Given the description of an element on the screen output the (x, y) to click on. 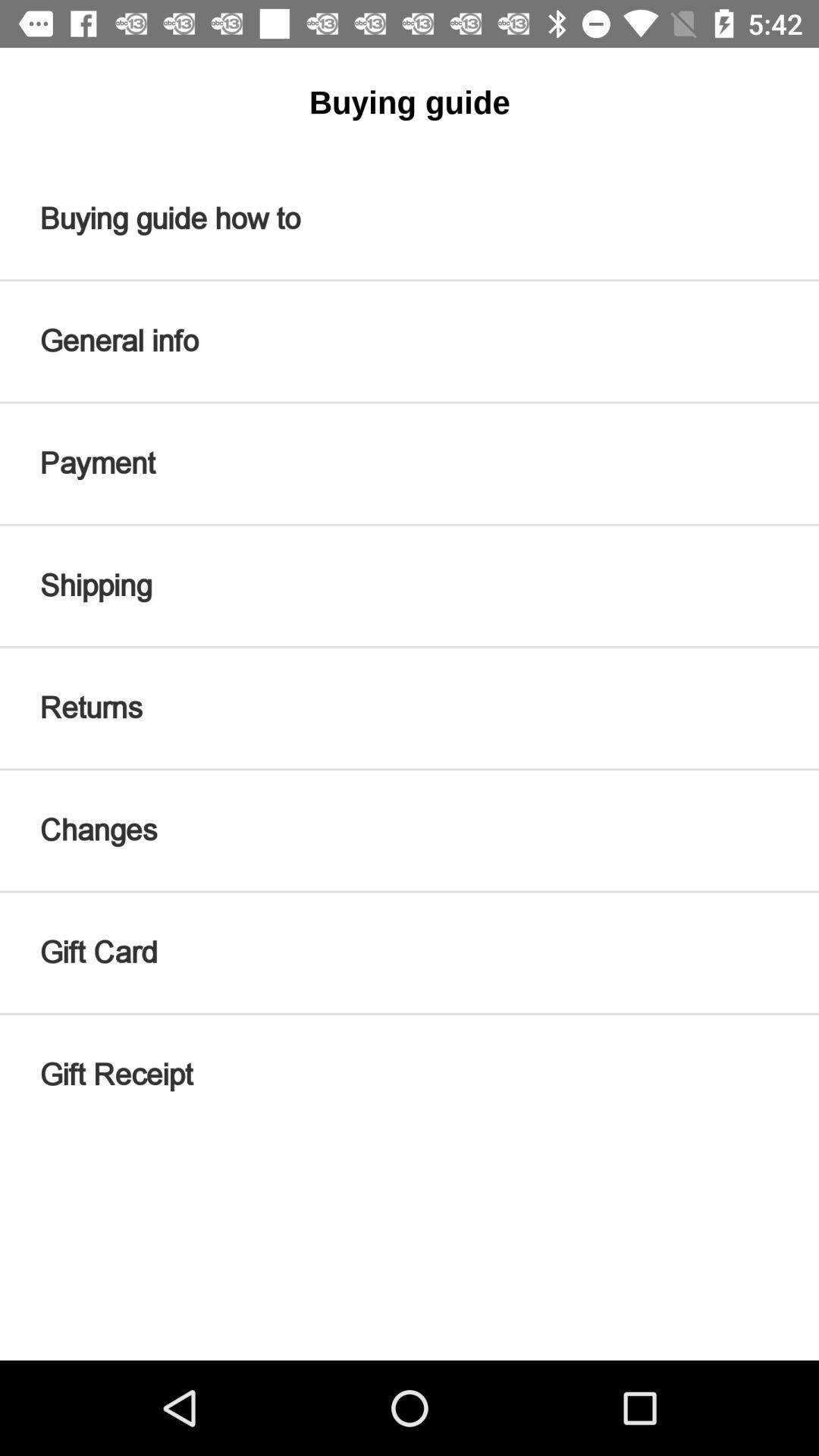
turn off shipping item (409, 586)
